Given the description of an element on the screen output the (x, y) to click on. 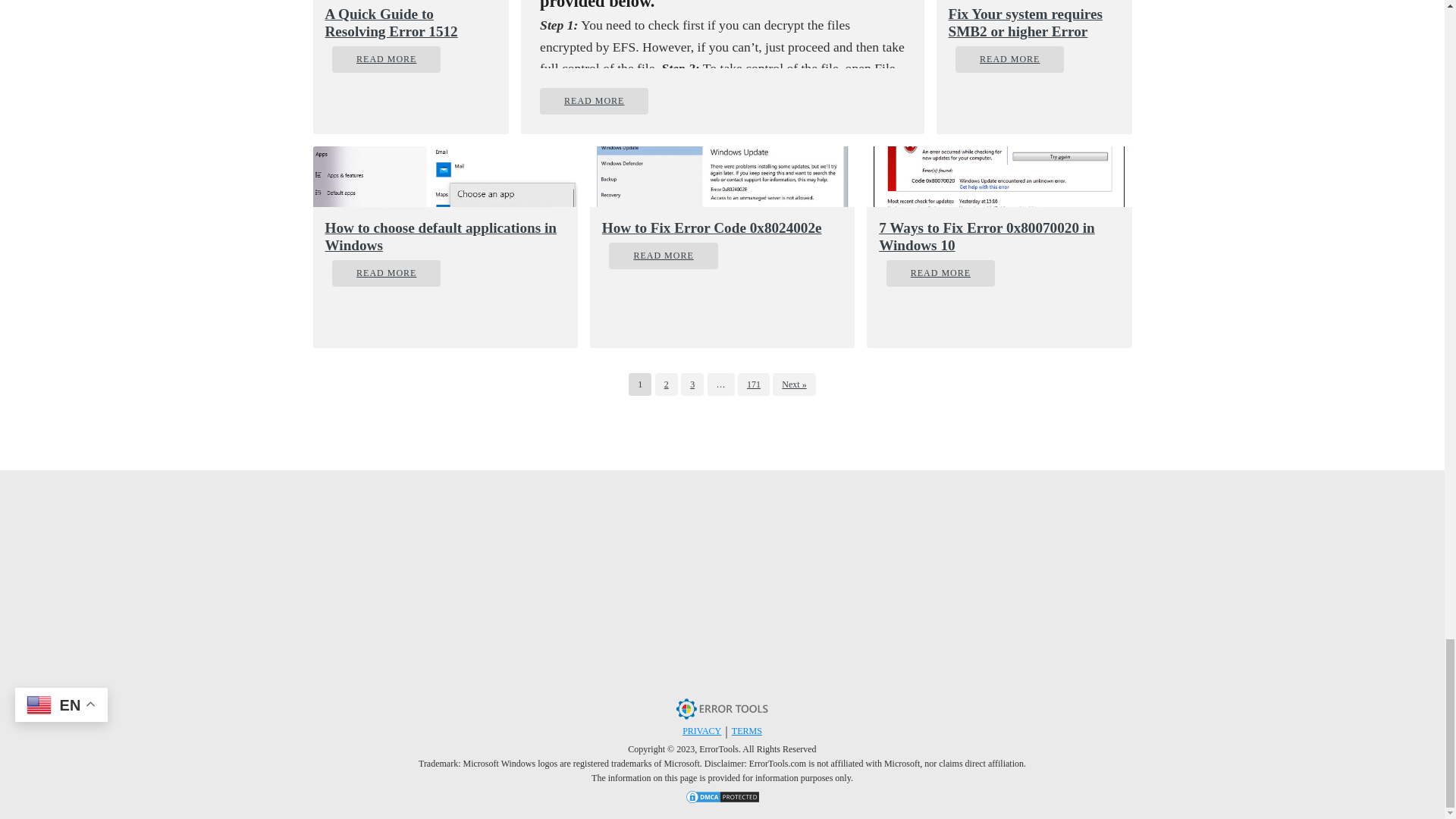
DMCA.com Protection Status (722, 799)
READ MORE (593, 100)
